Given the description of an element on the screen output the (x, y) to click on. 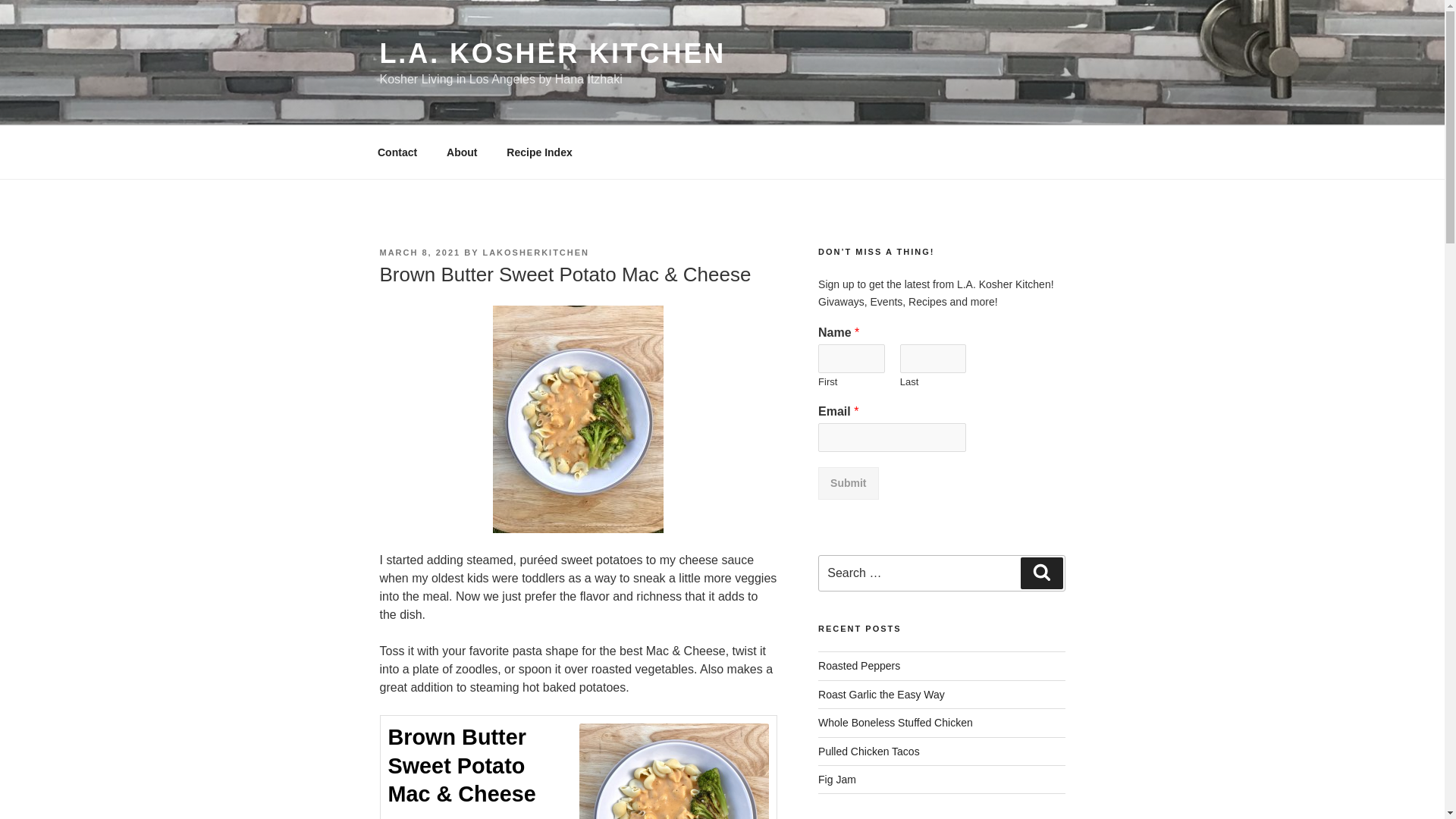
Whole Boneless Stuffed Chicken (895, 722)
Roast Garlic the Easy Way (881, 694)
Fig Jam (837, 779)
About (461, 151)
MARCH 8, 2021 (419, 252)
L.A. KOSHER KITCHEN (551, 52)
Contact (396, 151)
Roasted Peppers (858, 665)
Search (1041, 572)
Recipe Index (539, 151)
